Given the description of an element on the screen output the (x, y) to click on. 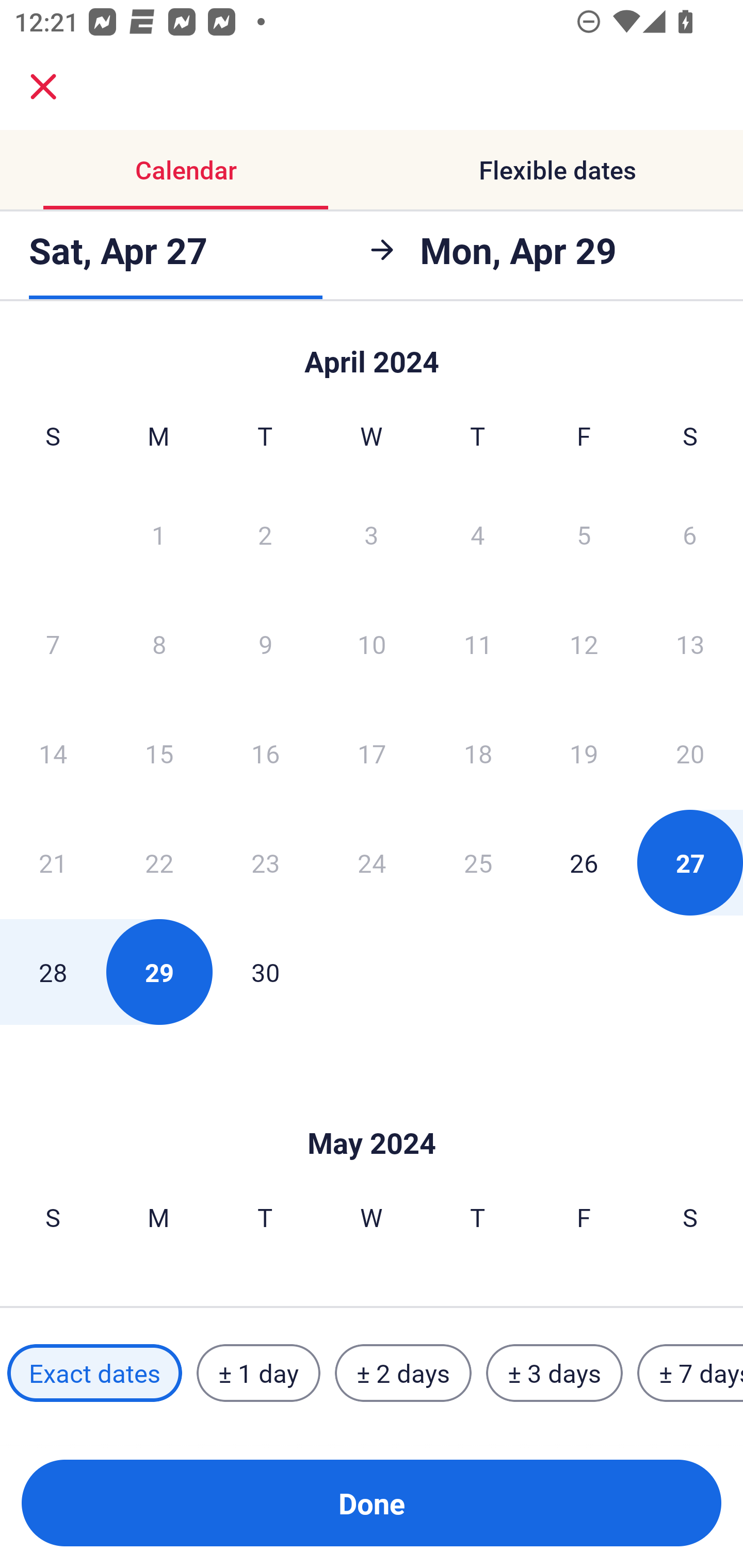
close. (43, 86)
Flexible dates (557, 170)
Skip to Done (371, 352)
1 Monday, April 1, 2024 (158, 534)
2 Tuesday, April 2, 2024 (264, 534)
3 Wednesday, April 3, 2024 (371, 534)
4 Thursday, April 4, 2024 (477, 534)
5 Friday, April 5, 2024 (583, 534)
6 Saturday, April 6, 2024 (689, 534)
7 Sunday, April 7, 2024 (53, 643)
8 Monday, April 8, 2024 (159, 643)
9 Tuesday, April 9, 2024 (265, 643)
10 Wednesday, April 10, 2024 (371, 643)
11 Thursday, April 11, 2024 (477, 643)
12 Friday, April 12, 2024 (584, 643)
13 Saturday, April 13, 2024 (690, 643)
14 Sunday, April 14, 2024 (53, 752)
15 Monday, April 15, 2024 (159, 752)
16 Tuesday, April 16, 2024 (265, 752)
17 Wednesday, April 17, 2024 (371, 752)
18 Thursday, April 18, 2024 (477, 752)
19 Friday, April 19, 2024 (584, 752)
20 Saturday, April 20, 2024 (690, 752)
21 Sunday, April 21, 2024 (53, 862)
22 Monday, April 22, 2024 (159, 862)
23 Tuesday, April 23, 2024 (265, 862)
24 Wednesday, April 24, 2024 (371, 862)
25 Thursday, April 25, 2024 (477, 862)
26 Friday, April 26, 2024 (584, 862)
30 Tuesday, April 30, 2024 (265, 971)
Skip to Done (371, 1112)
Exact dates (94, 1372)
± 1 day (258, 1372)
± 2 days (403, 1372)
± 3 days (553, 1372)
± 7 days (690, 1372)
Done (371, 1502)
